Given the description of an element on the screen output the (x, y) to click on. 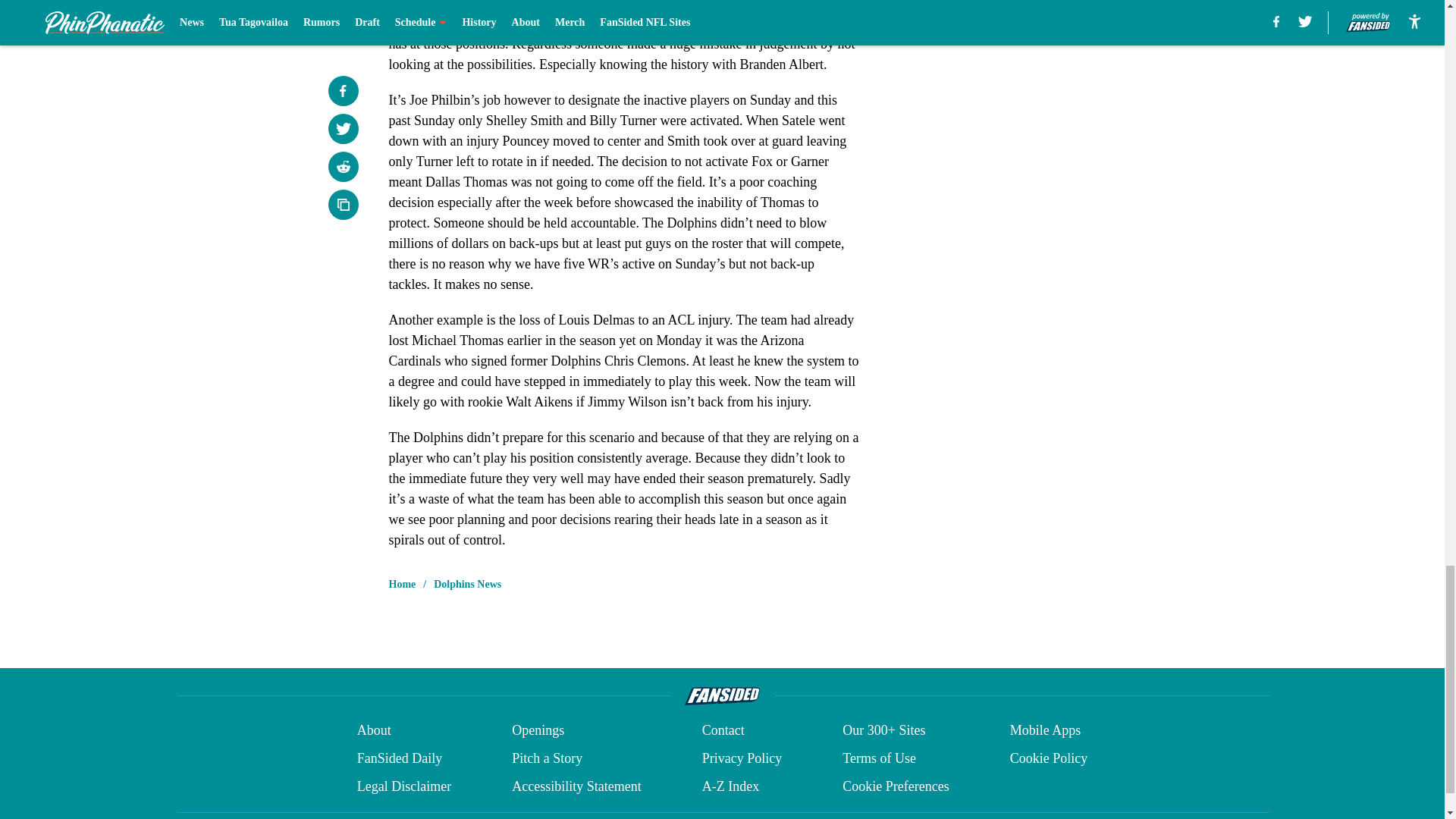
Dolphins News (466, 584)
About (373, 730)
Pitch a Story (547, 758)
Home (401, 584)
Openings (538, 730)
FanSided Daily (399, 758)
Contact (722, 730)
Mobile Apps (1045, 730)
